Given the description of an element on the screen output the (x, y) to click on. 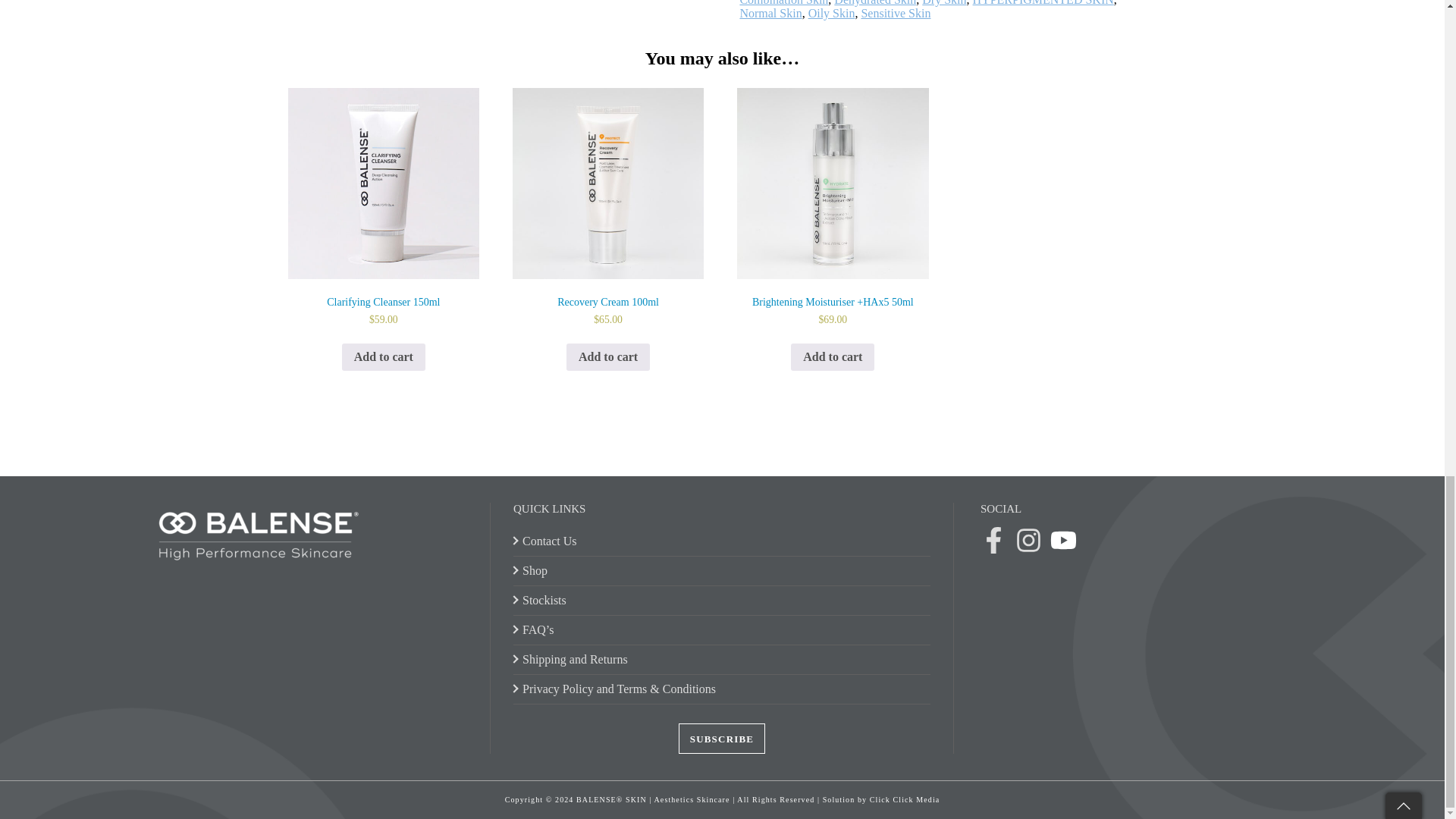
facebook (993, 541)
instagram (1028, 541)
youtube (1063, 541)
